Given the description of an element on the screen output the (x, y) to click on. 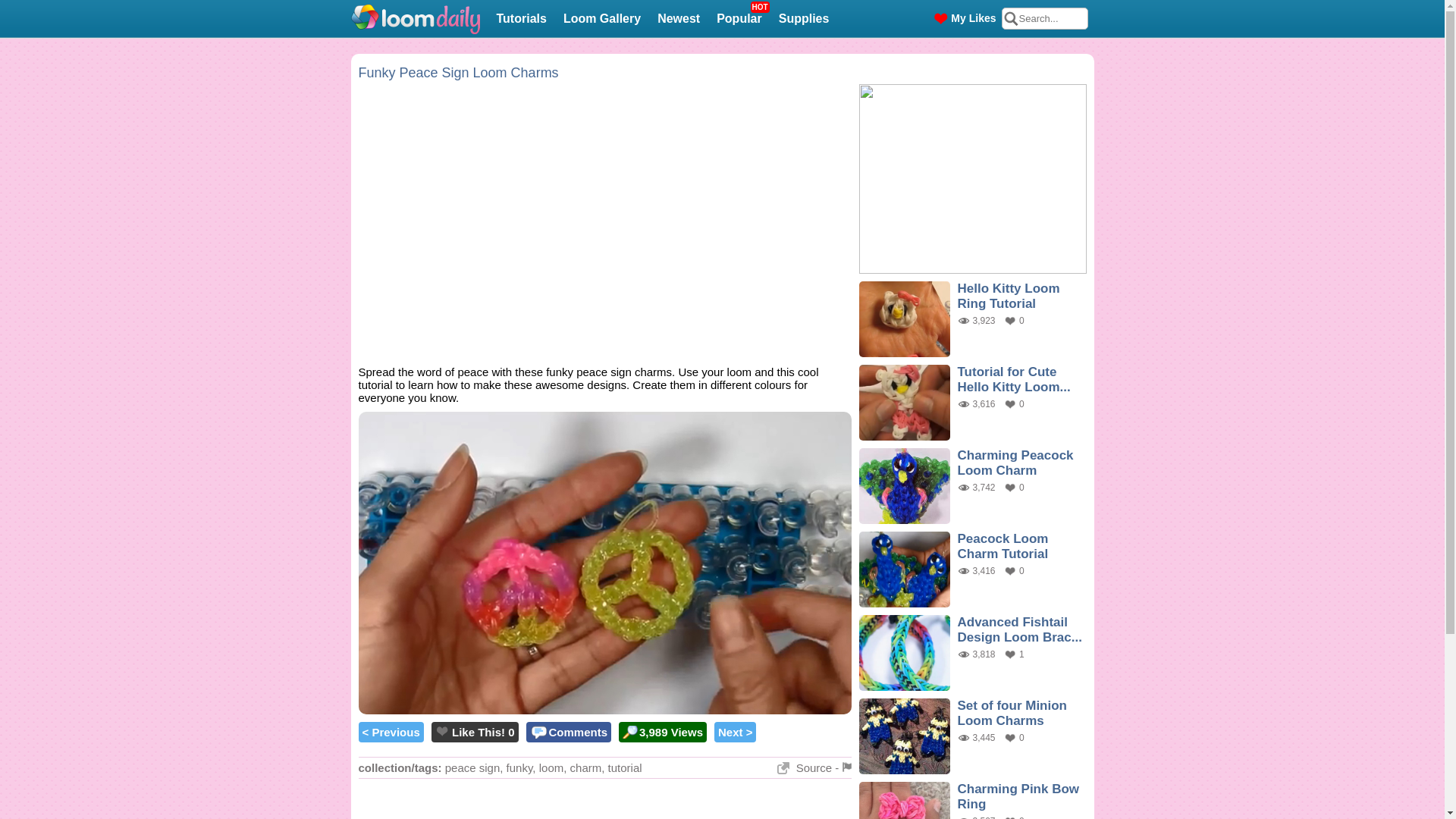
Funky Peace Sign Loom Charms (457, 72)
Like This! (478, 731)
tutorial (625, 767)
Supplies (803, 19)
Peacock Loom Charm Tutorial (1002, 546)
My Likes (966, 18)
Charming Pink Bow Ring (1017, 796)
Hello Kitty Loom Ring Tutorial (1007, 296)
Advanced Fishtail Design Loom Brac... (1018, 629)
funky (738, 19)
Add to My Likes (519, 767)
Tutorial for Cute Hello Kitty Loom... (441, 730)
Source (1013, 378)
Newest (804, 767)
